Given the description of an element on the screen output the (x, y) to click on. 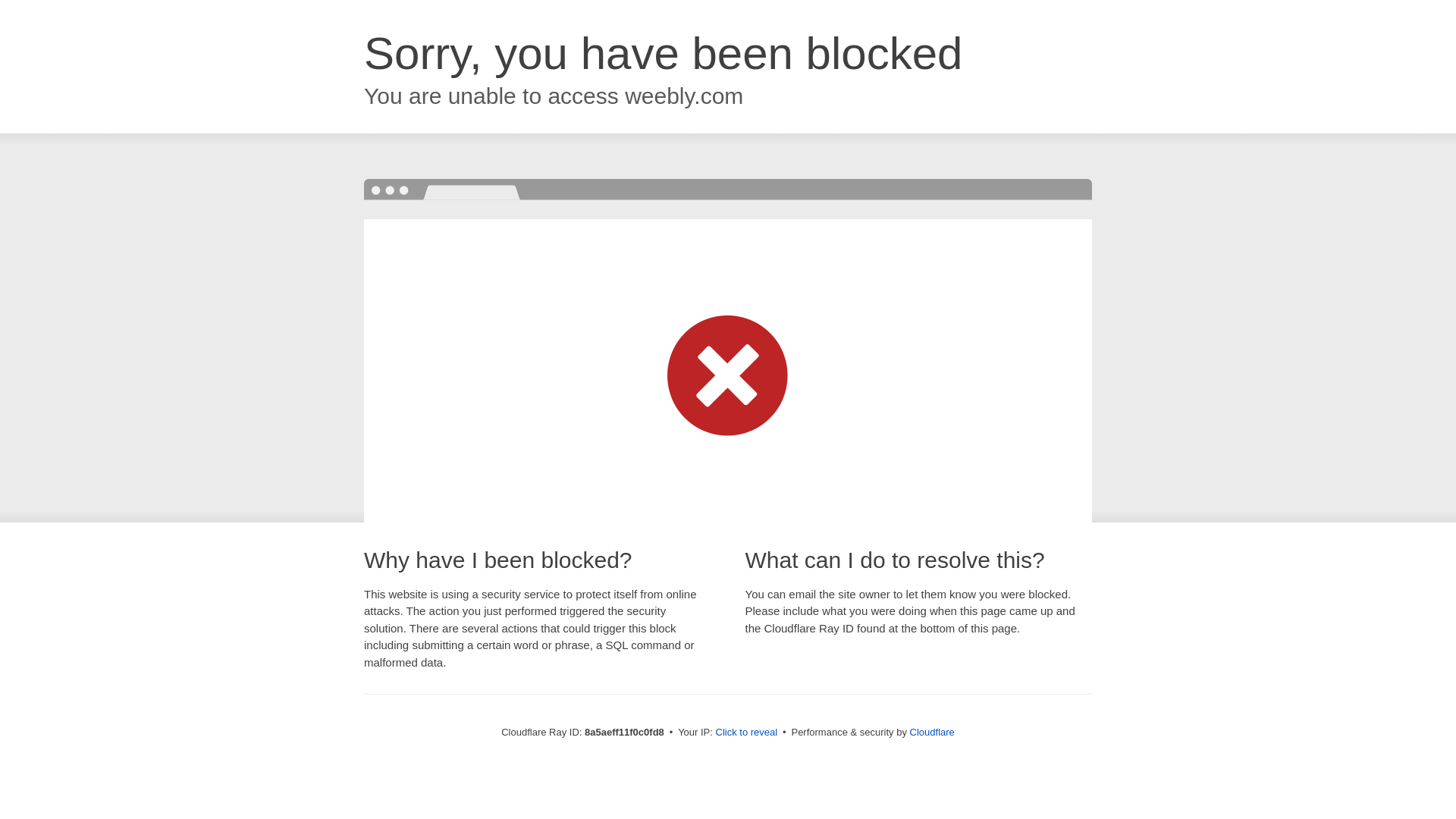
Click to reveal (746, 732)
Cloudflare (932, 731)
